Given the description of an element on the screen output the (x, y) to click on. 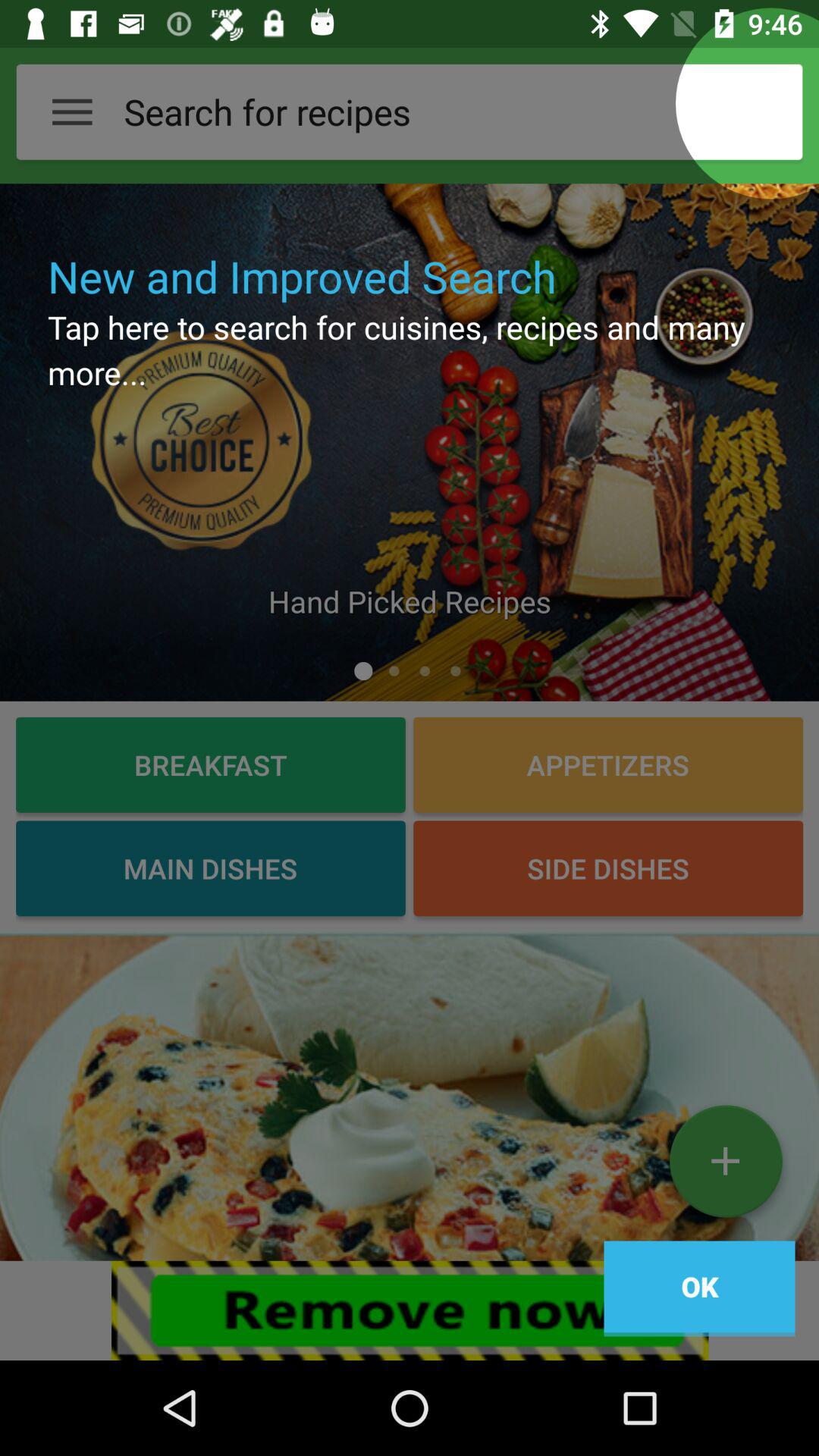
click the add option (725, 1167)
